Given the description of an element on the screen output the (x, y) to click on. 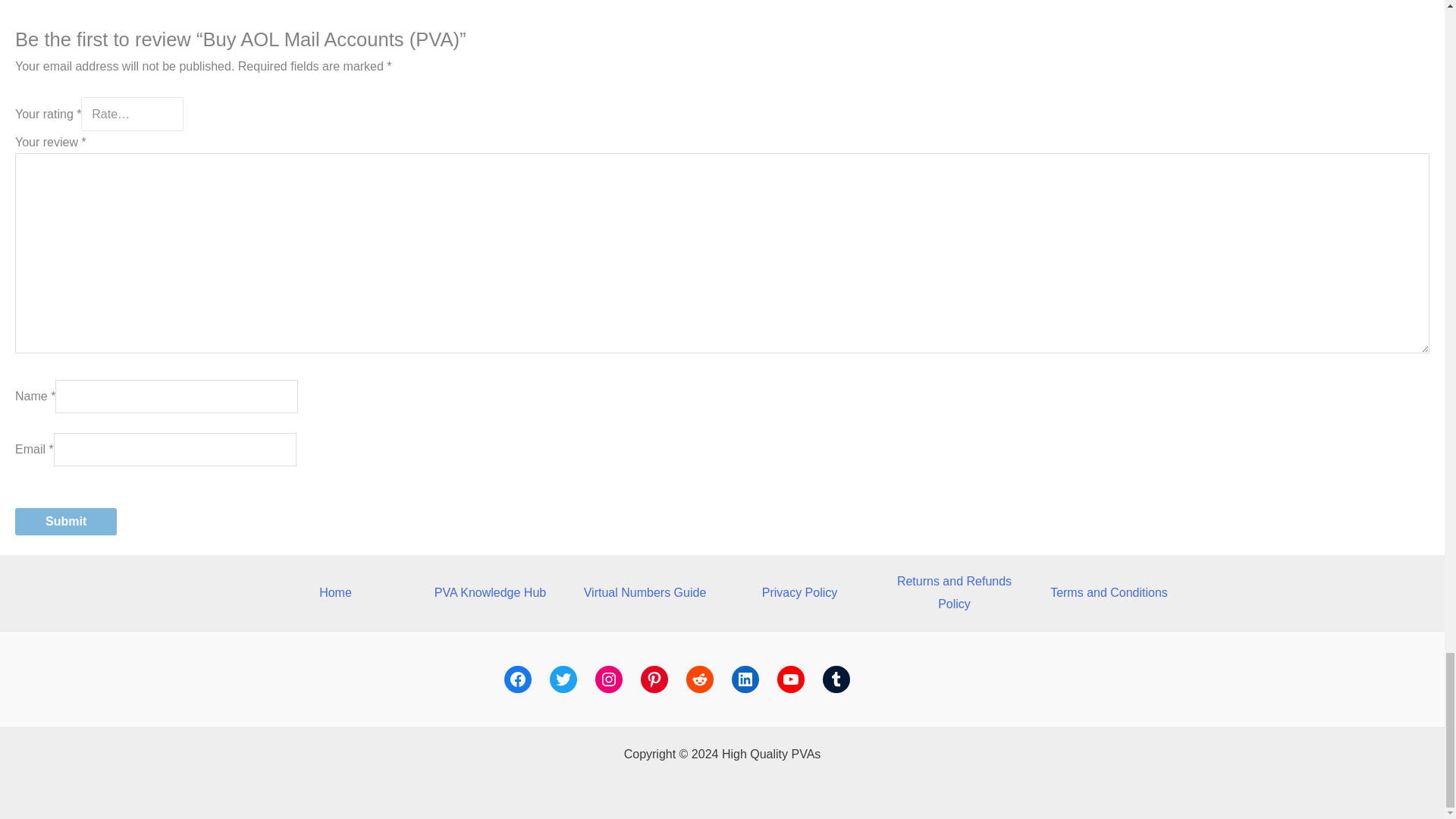
Submit (65, 521)
PVA Knowledge Hub (489, 592)
Returns and Refunds Policy (953, 592)
Pinterest (653, 678)
Virtual Numbers Guide (644, 592)
Privacy Policy (799, 592)
Instagram (607, 678)
Home (335, 592)
Terms and Conditions (1108, 592)
Submit (65, 521)
